Given the description of an element on the screen output the (x, y) to click on. 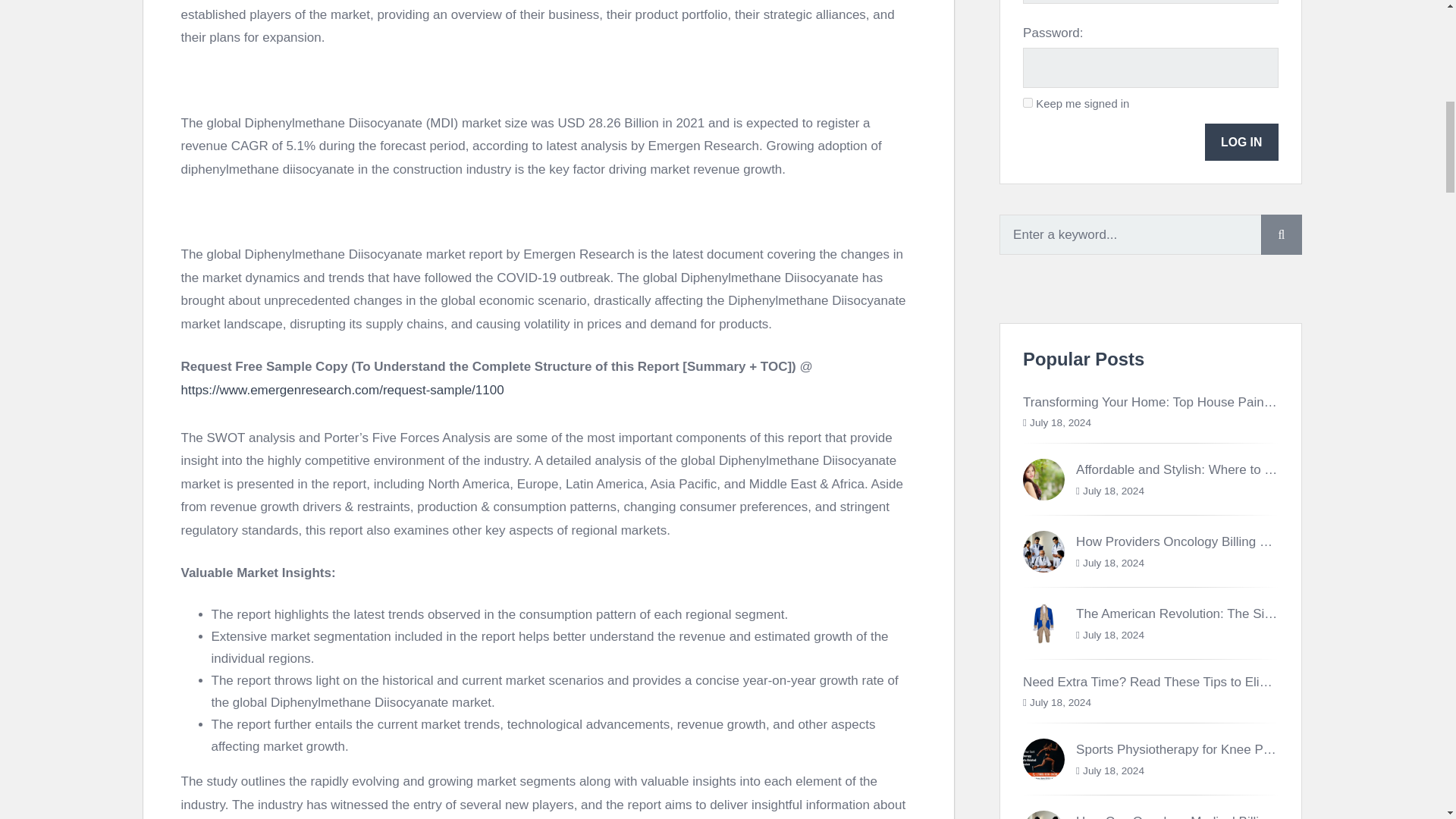
forever (1027, 102)
